Given the description of an element on the screen output the (x, y) to click on. 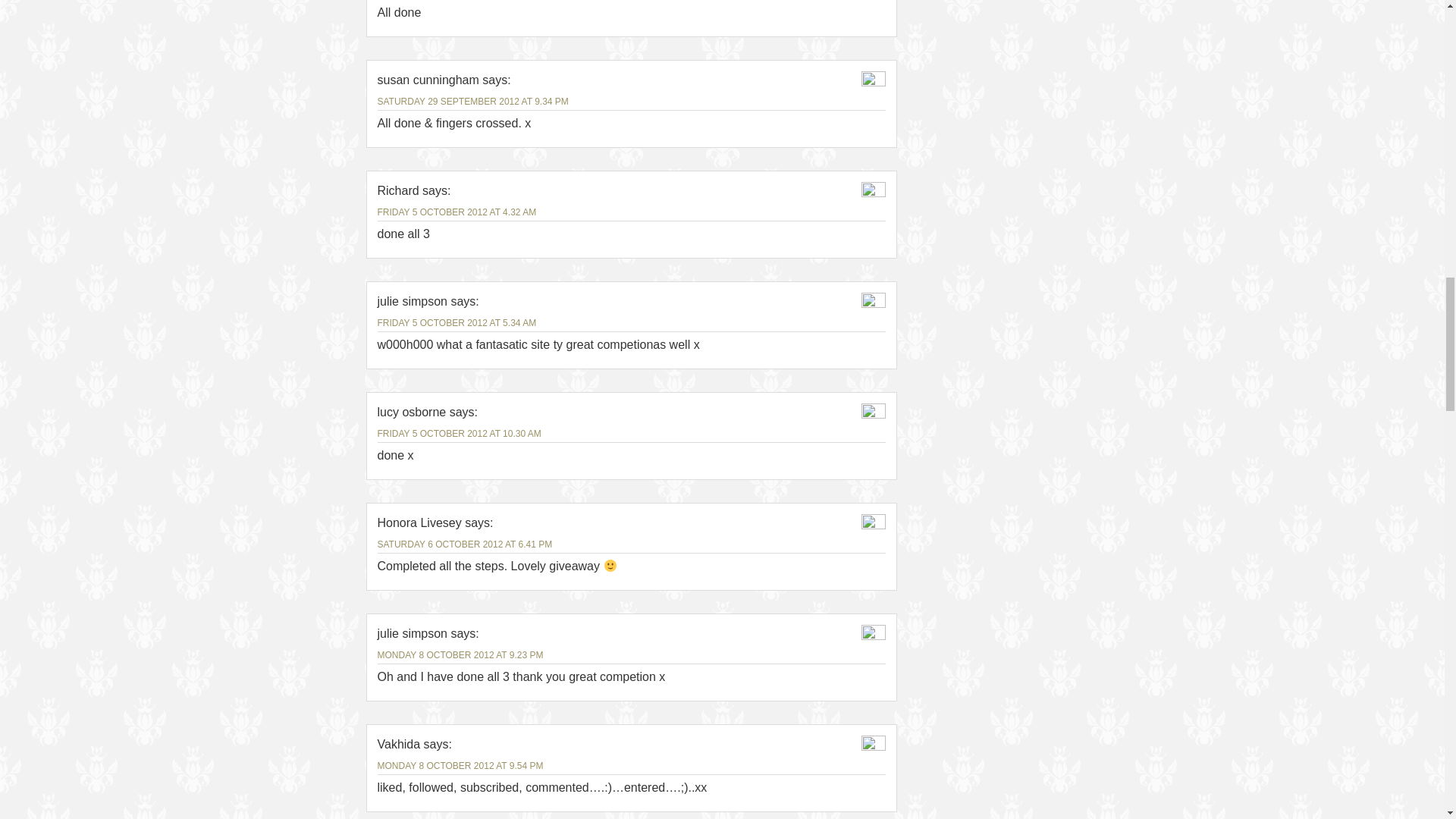
MONDAY 8 OCTOBER 2012 AT 9.54 PM (460, 765)
SATURDAY 29 SEPTEMBER 2012 AT 9.34 PM (473, 101)
FRIDAY 5 OCTOBER 2012 AT 4.32 AM (457, 212)
MONDAY 8 OCTOBER 2012 AT 9.23 PM (460, 655)
FRIDAY 5 OCTOBER 2012 AT 5.34 AM (457, 322)
SATURDAY 6 OCTOBER 2012 AT 6.41 PM (465, 543)
FRIDAY 5 OCTOBER 2012 AT 10.30 AM (459, 433)
